Given the description of an element on the screen output the (x, y) to click on. 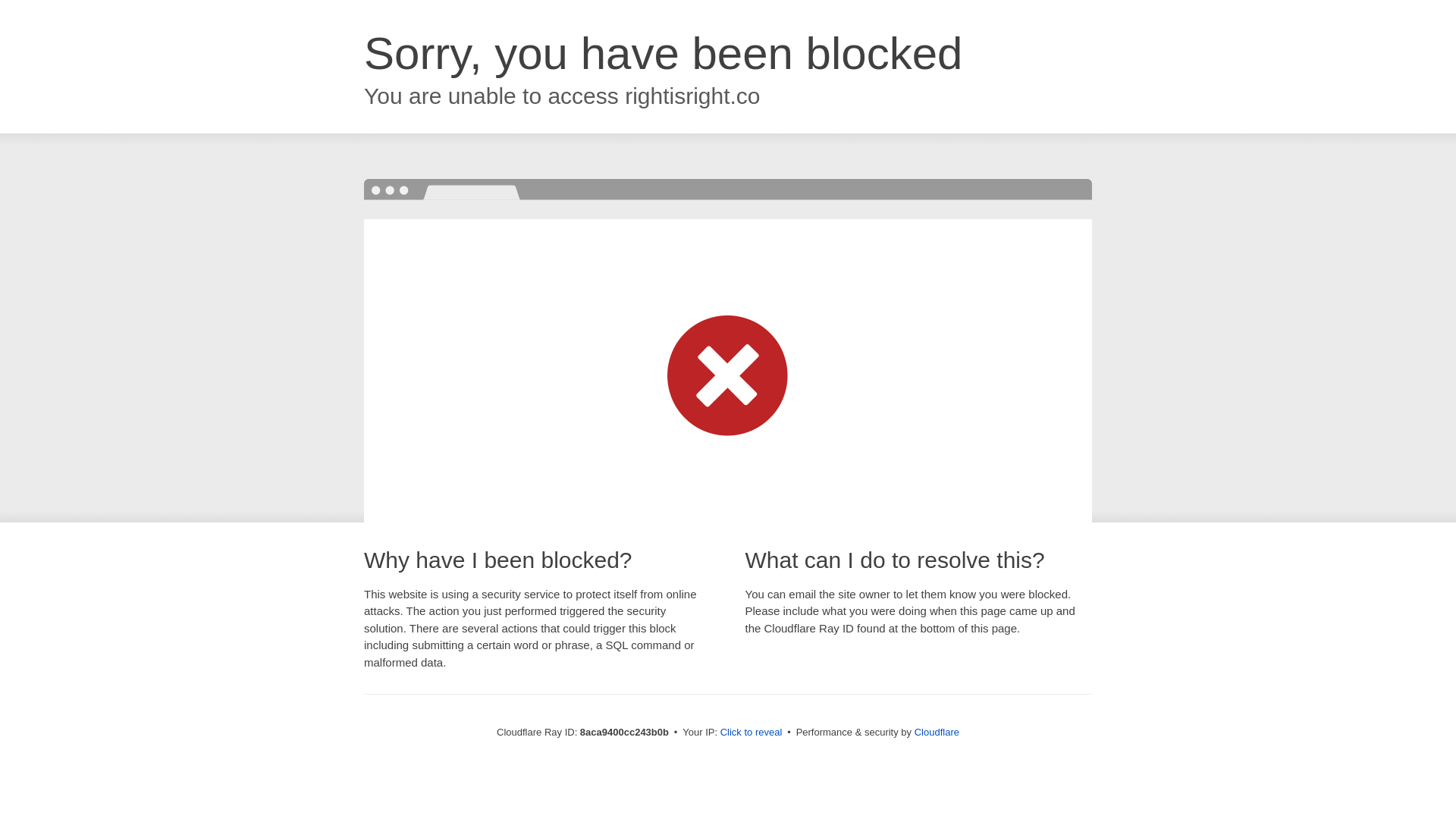
Click to reveal (751, 732)
Cloudflare (936, 731)
